Given the description of an element on the screen output the (x, y) to click on. 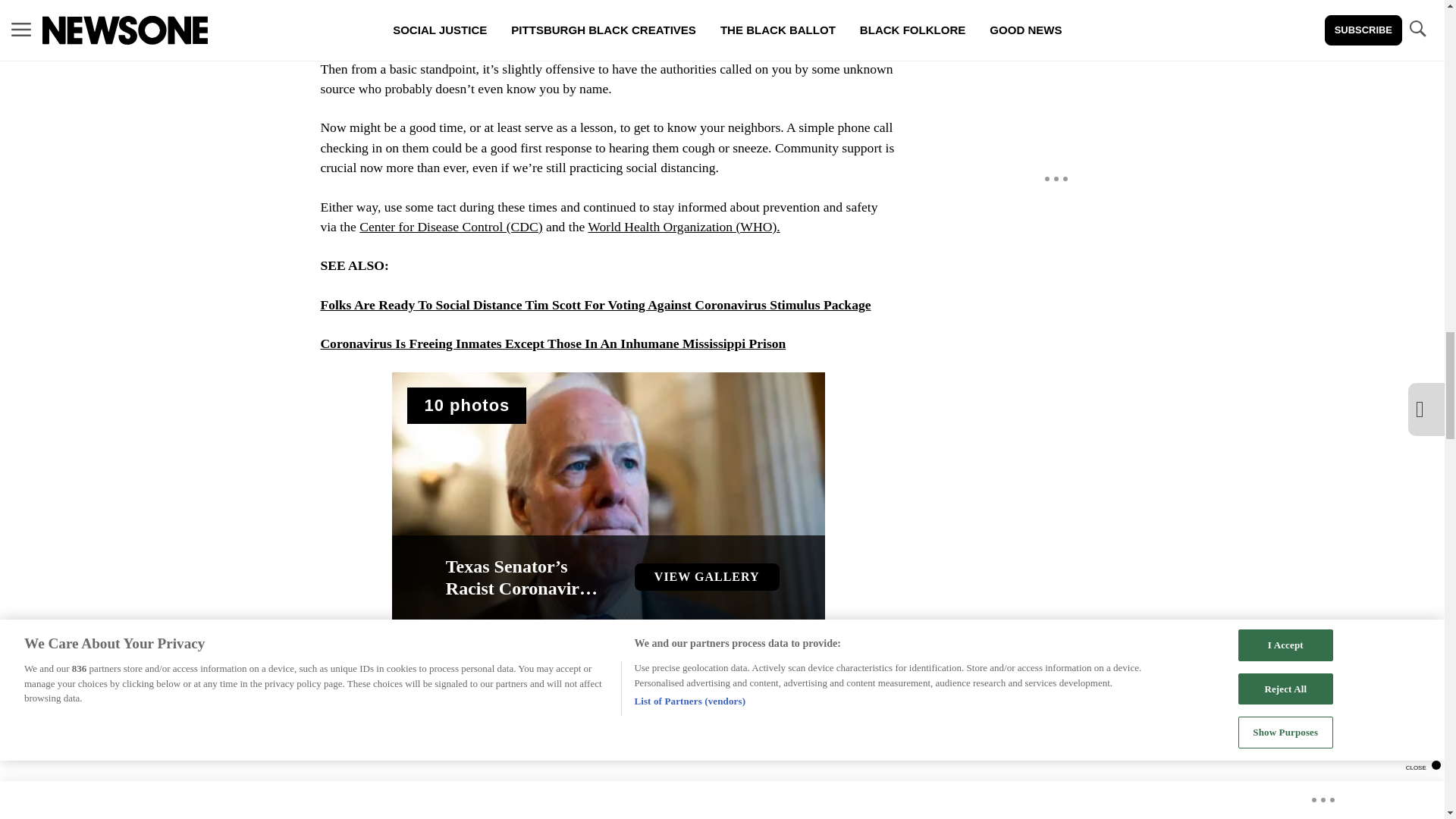
Media Playlist (466, 405)
911 (336, 685)
NEWSLETTER (507, 685)
Vuukle Sharebar Widget (585, 724)
POLICE (588, 685)
CORONAVIRUS (406, 685)
